Given the description of an element on the screen output the (x, y) to click on. 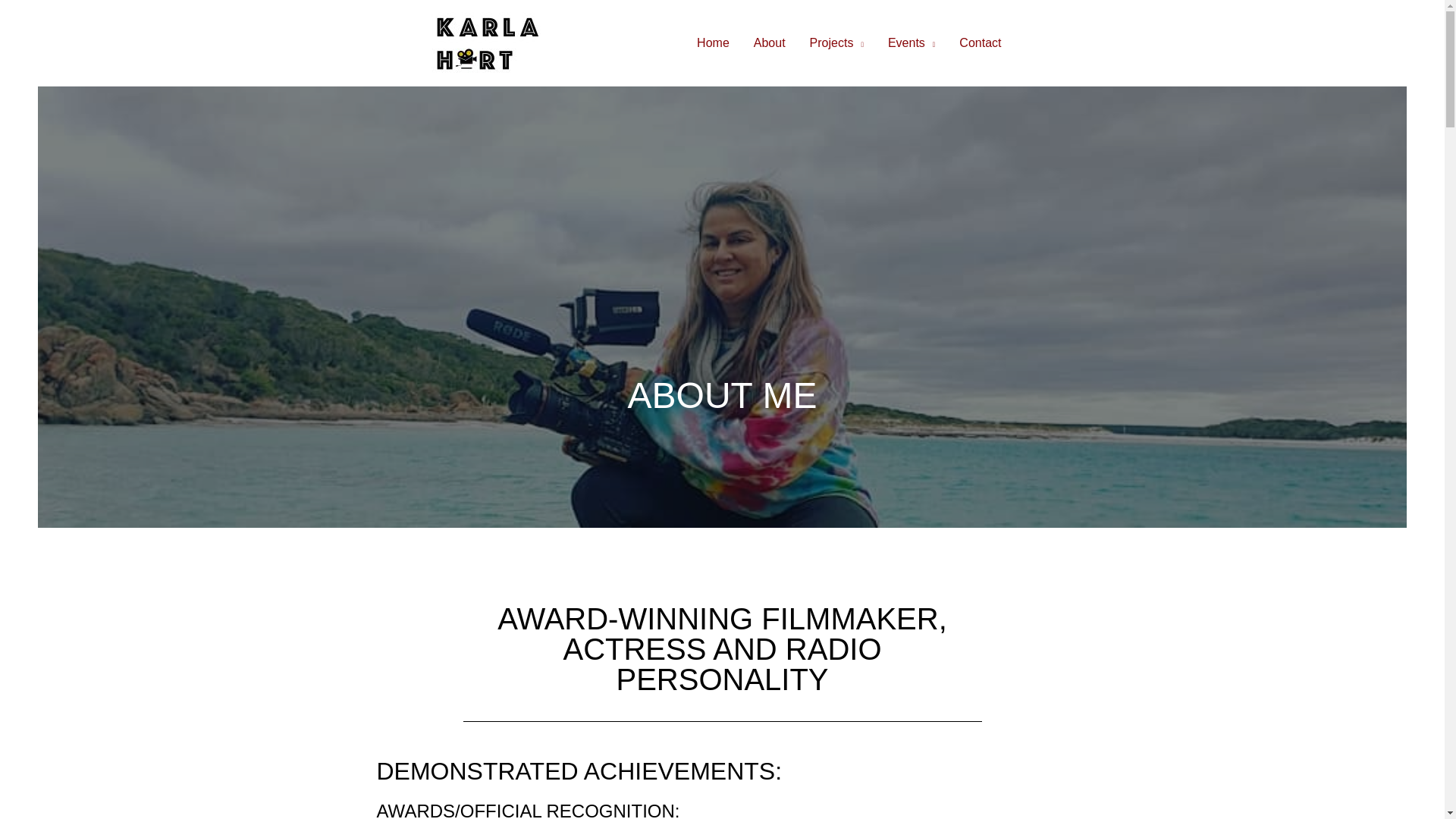
Projects (836, 42)
Contact (980, 42)
Home (712, 42)
Events (911, 42)
About (769, 42)
